Given the description of an element on the screen output the (x, y) to click on. 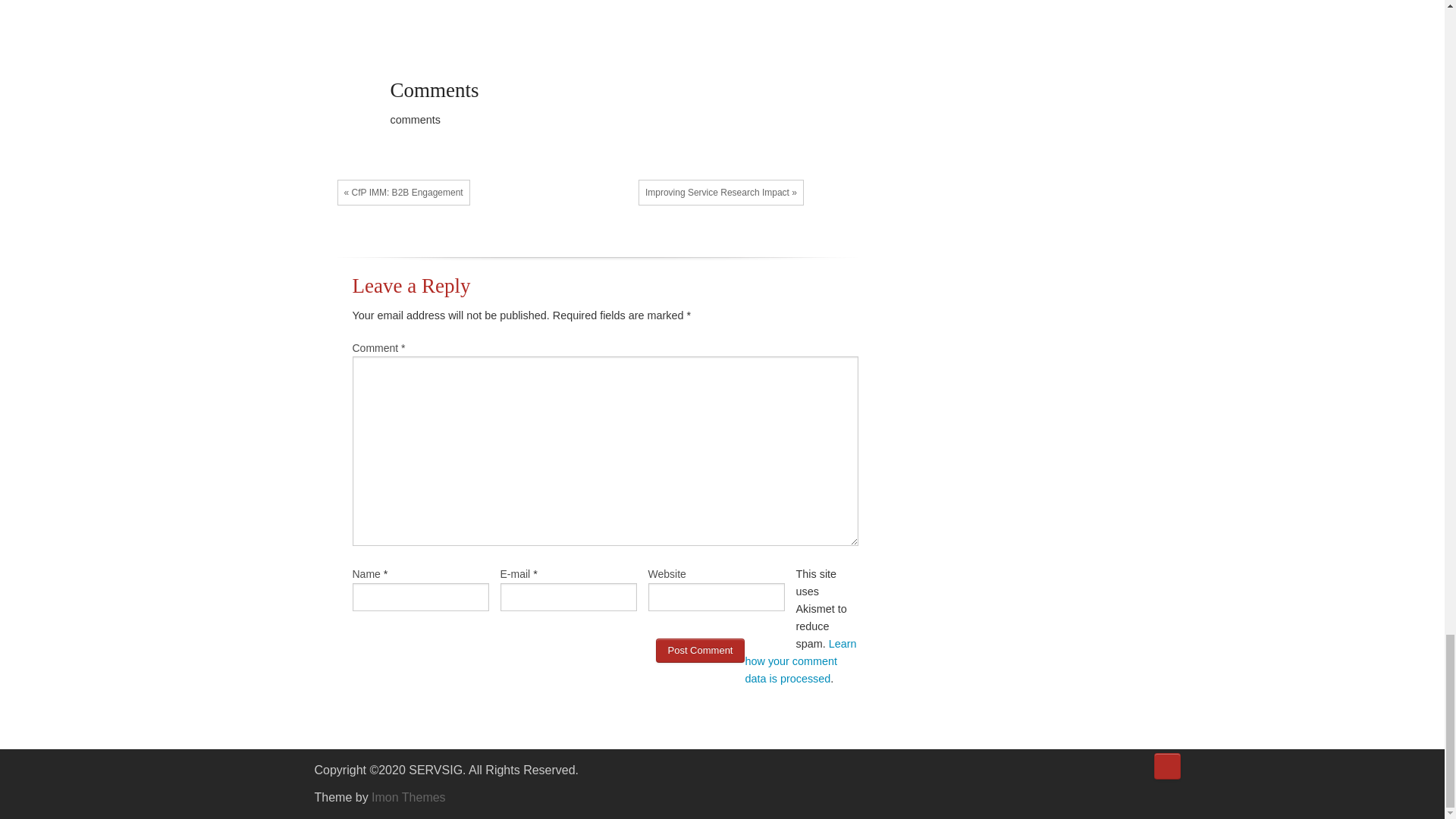
Share this post on Facebook (569, 245)
twitter (1103, 771)
Tweet this post (592, 245)
 linked (1126, 771)
Post Comment (699, 650)
facebook (1080, 771)
Plus One This (615, 245)
